Given the description of an element on the screen output the (x, y) to click on. 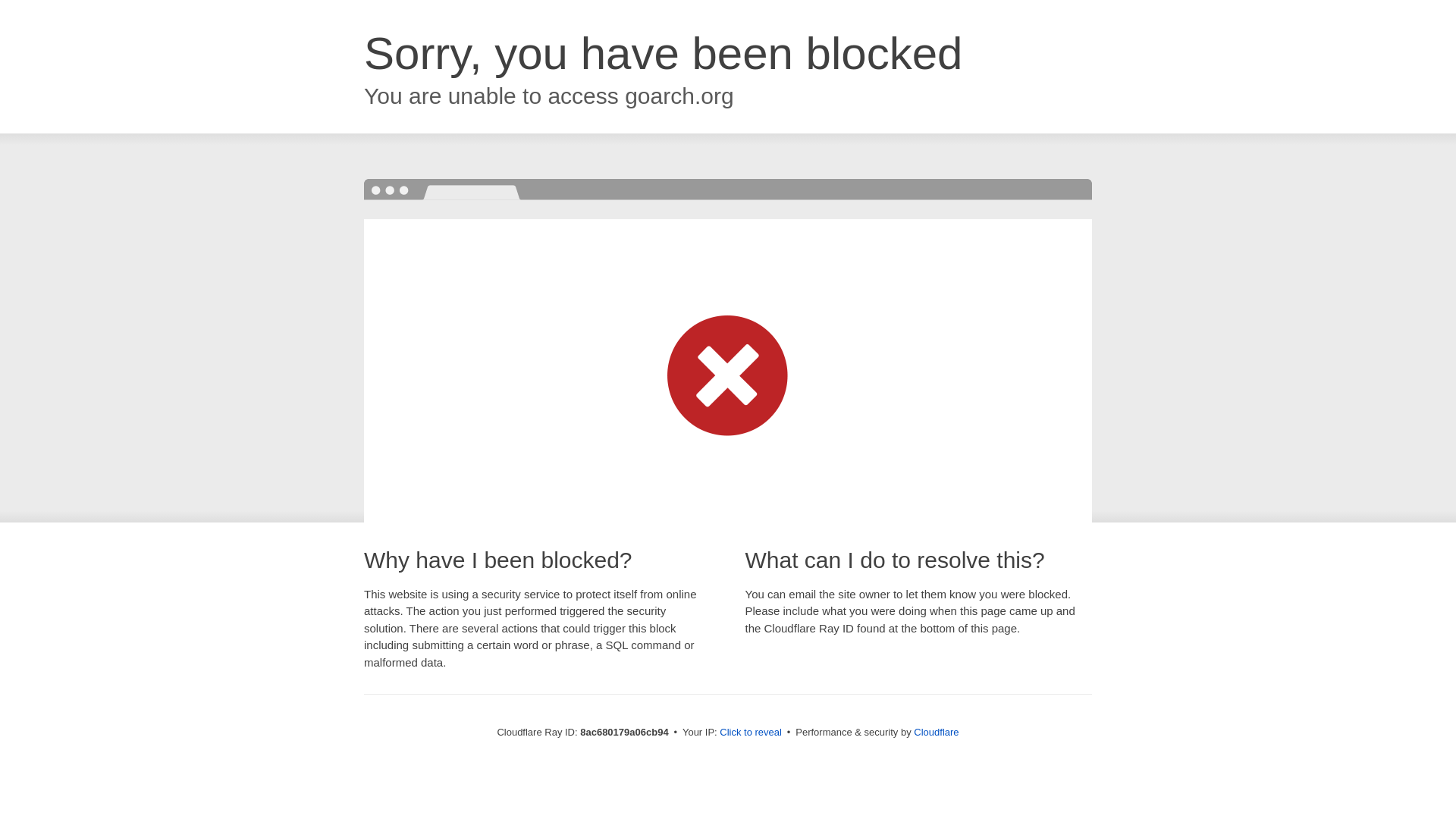
Click to reveal (750, 732)
Cloudflare (936, 731)
